Given the description of an element on the screen output the (x, y) to click on. 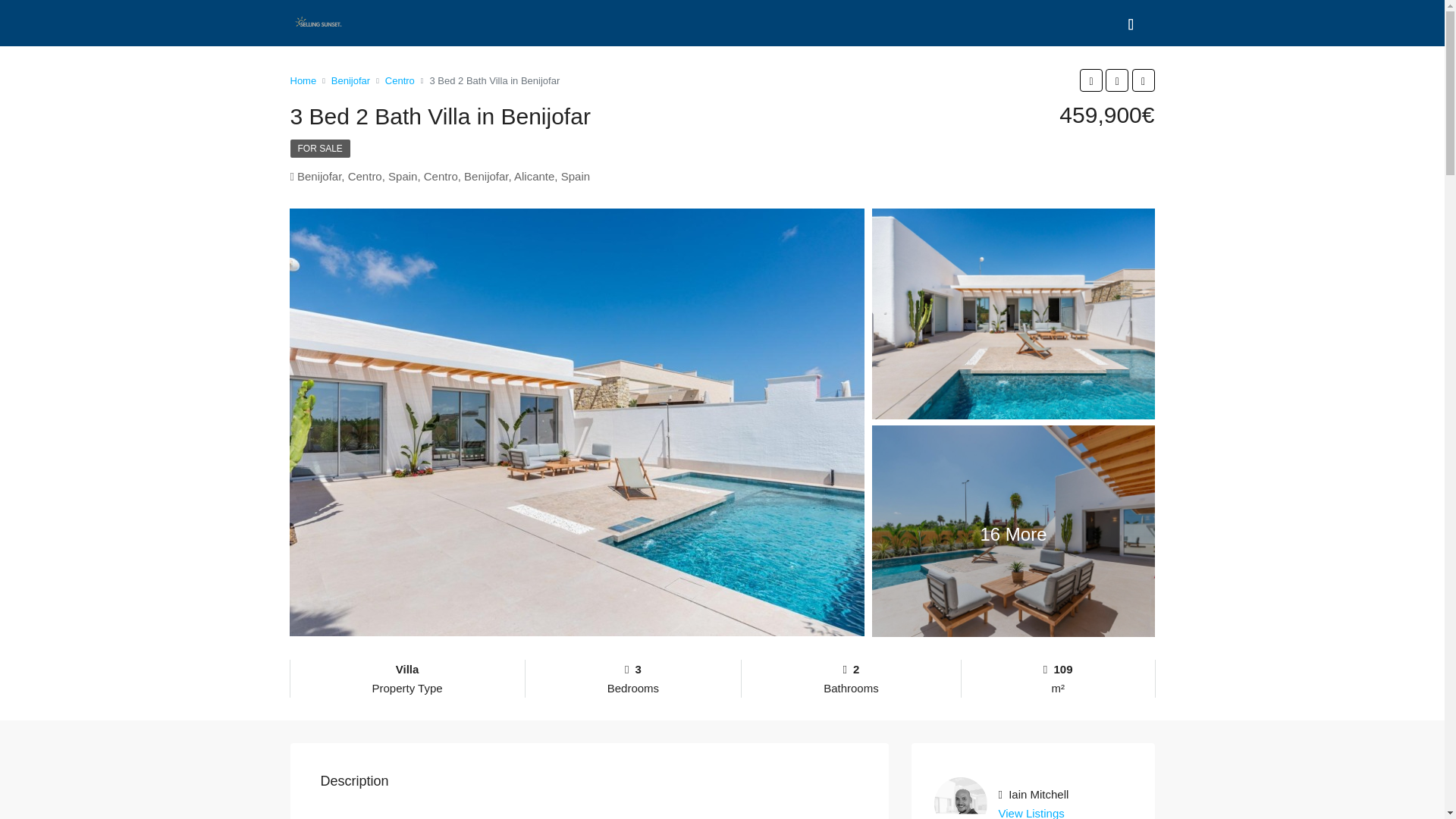
Centro (399, 80)
Benijofar (350, 80)
16 More (1014, 530)
FOR SALE (319, 148)
Home (302, 80)
